Given the description of an element on the screen output the (x, y) to click on. 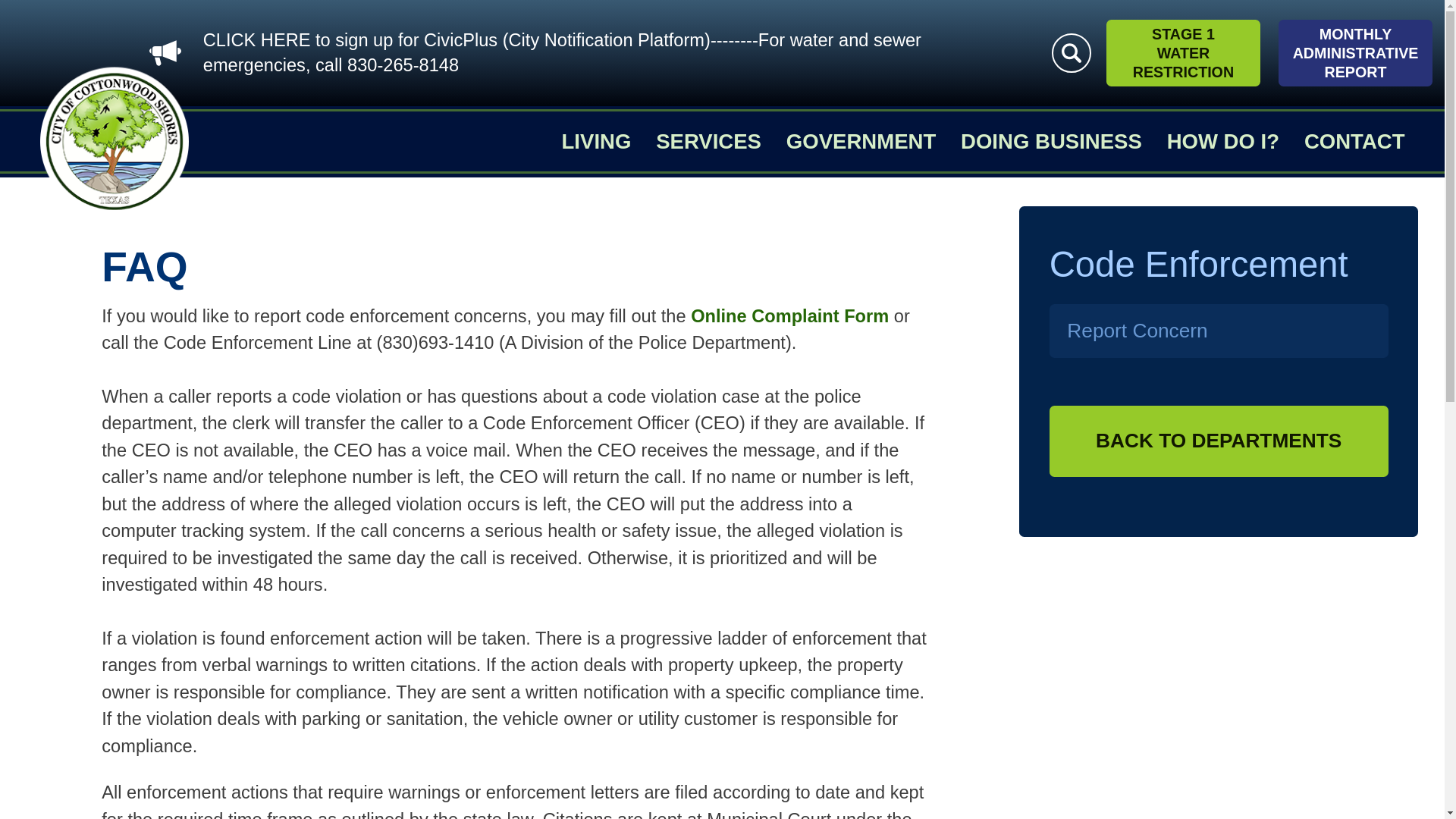
GOVERNMENT (861, 141)
City of Cottonwood Shores (114, 141)
MONTHLY ADMINISTRATIVE REPORT (1355, 52)
LIVING (596, 141)
Services (708, 141)
DOING BUSINESS (1050, 141)
Government (861, 141)
STAGE 1 WATER RESTRICTION (1183, 52)
Living (596, 141)
SERVICES (708, 141)
